Given the description of an element on the screen output the (x, y) to click on. 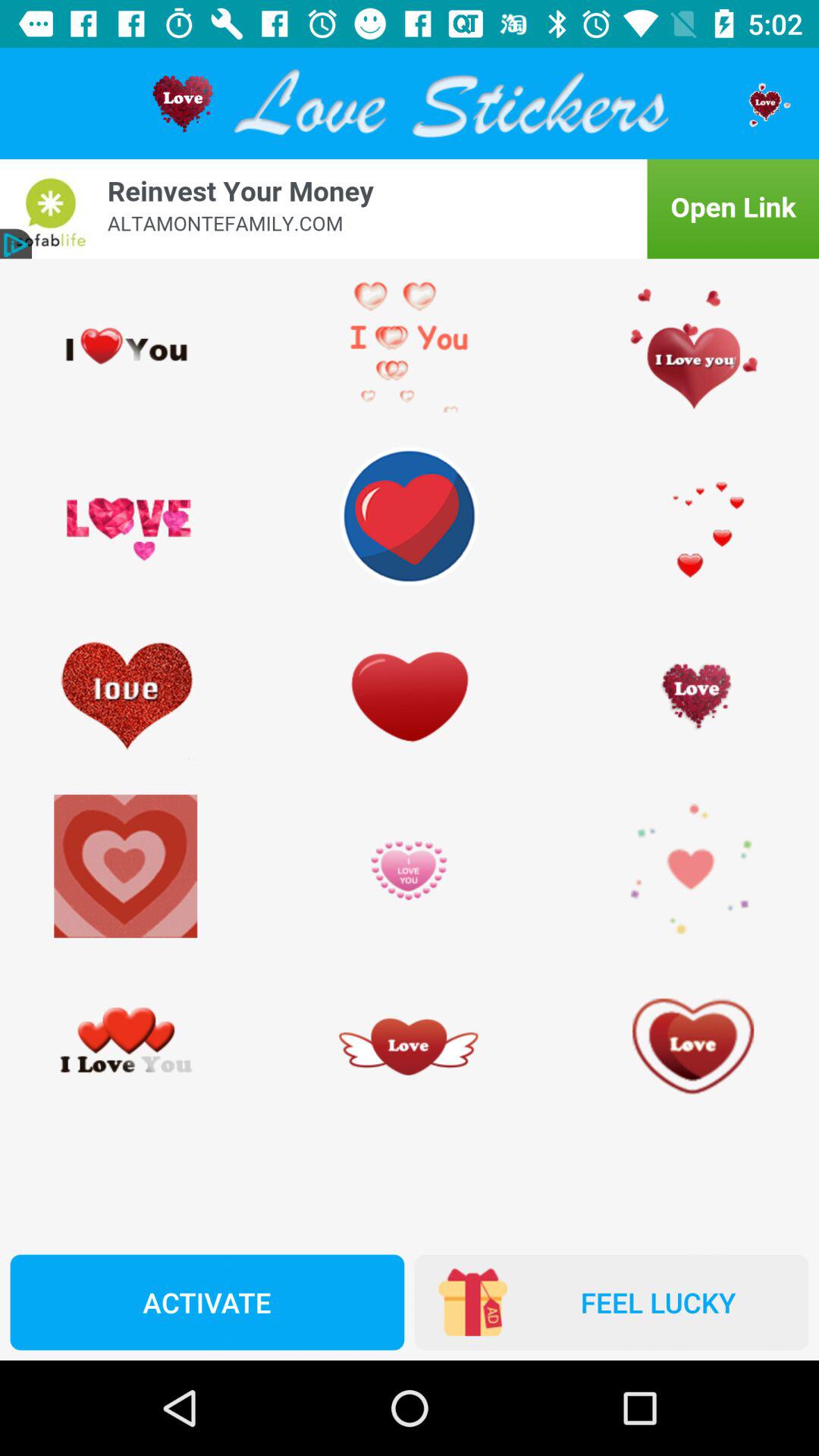
scroll until the feel lucky (611, 1302)
